Given the description of an element on the screen output the (x, y) to click on. 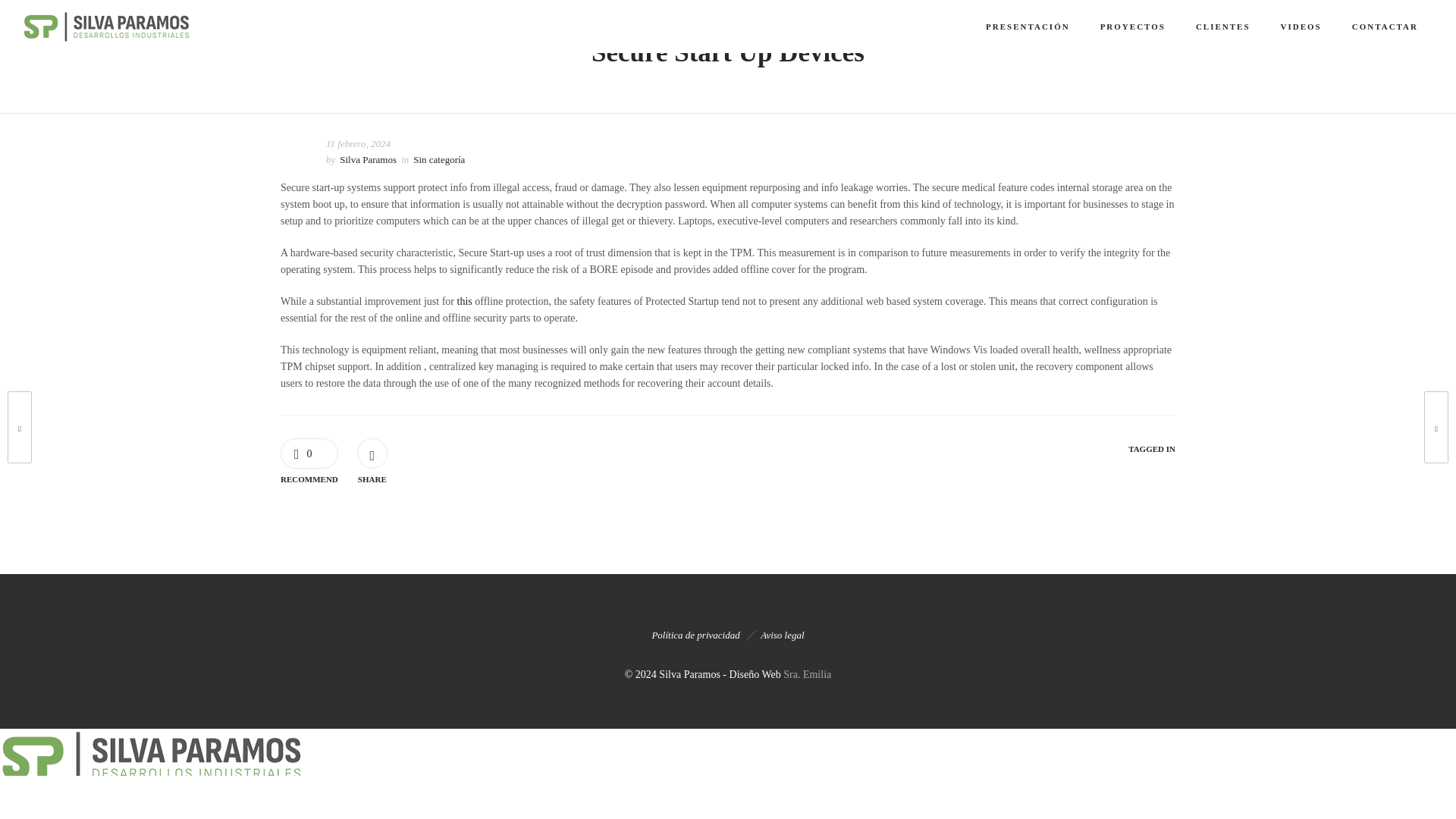
CLIENTES (1222, 26)
PROYECTOS (1132, 26)
VIDEOS (1300, 26)
Mobile logo (151, 782)
Sra. Emilia (807, 674)
Aviso legal (781, 634)
Silva Paramos (367, 160)
this (464, 301)
CONTACTAR (1384, 26)
